Given the description of an element on the screen output the (x, y) to click on. 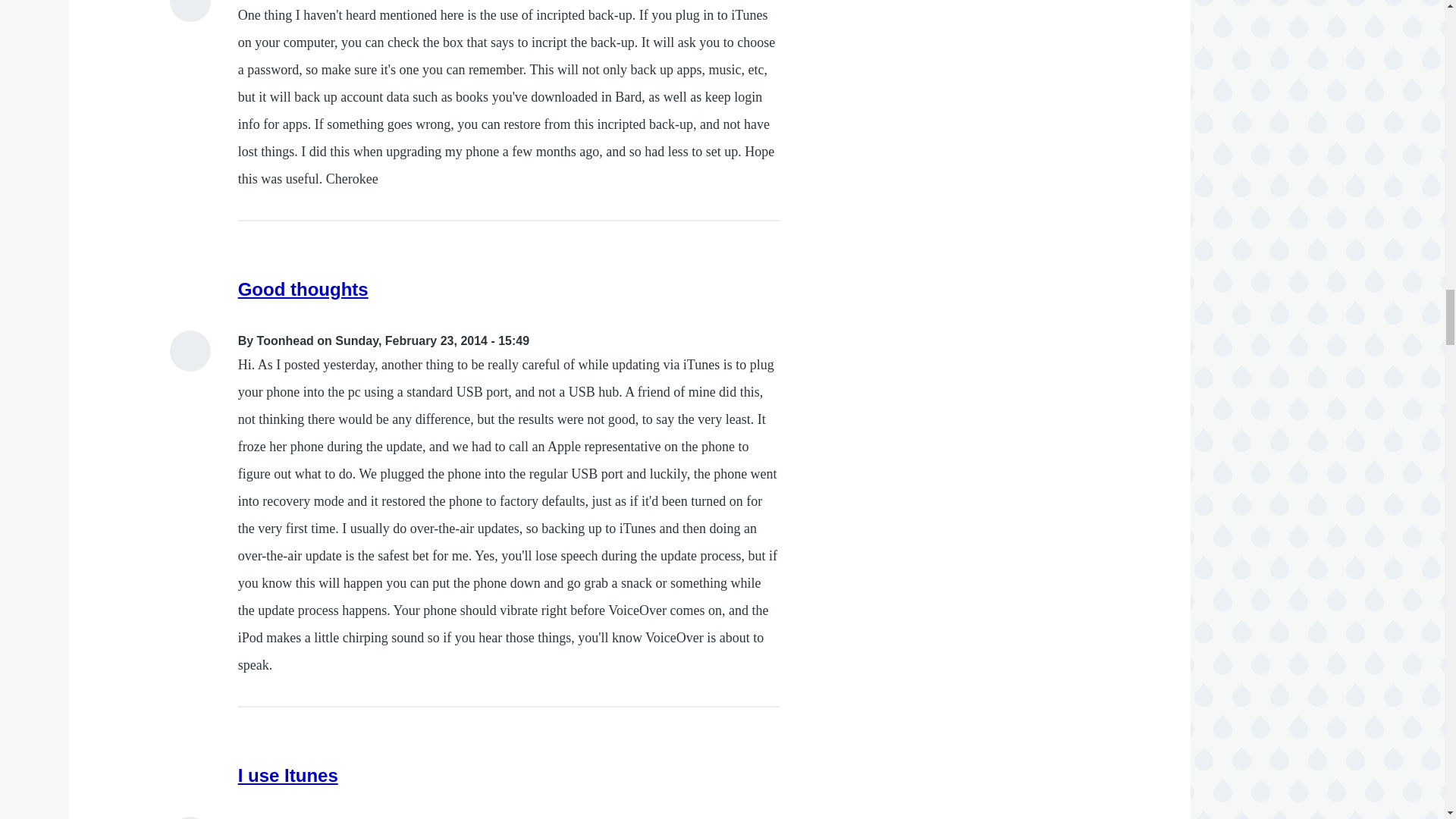
Good thoughts (303, 289)
I use Itunes (287, 774)
